Given the description of an element on the screen output the (x, y) to click on. 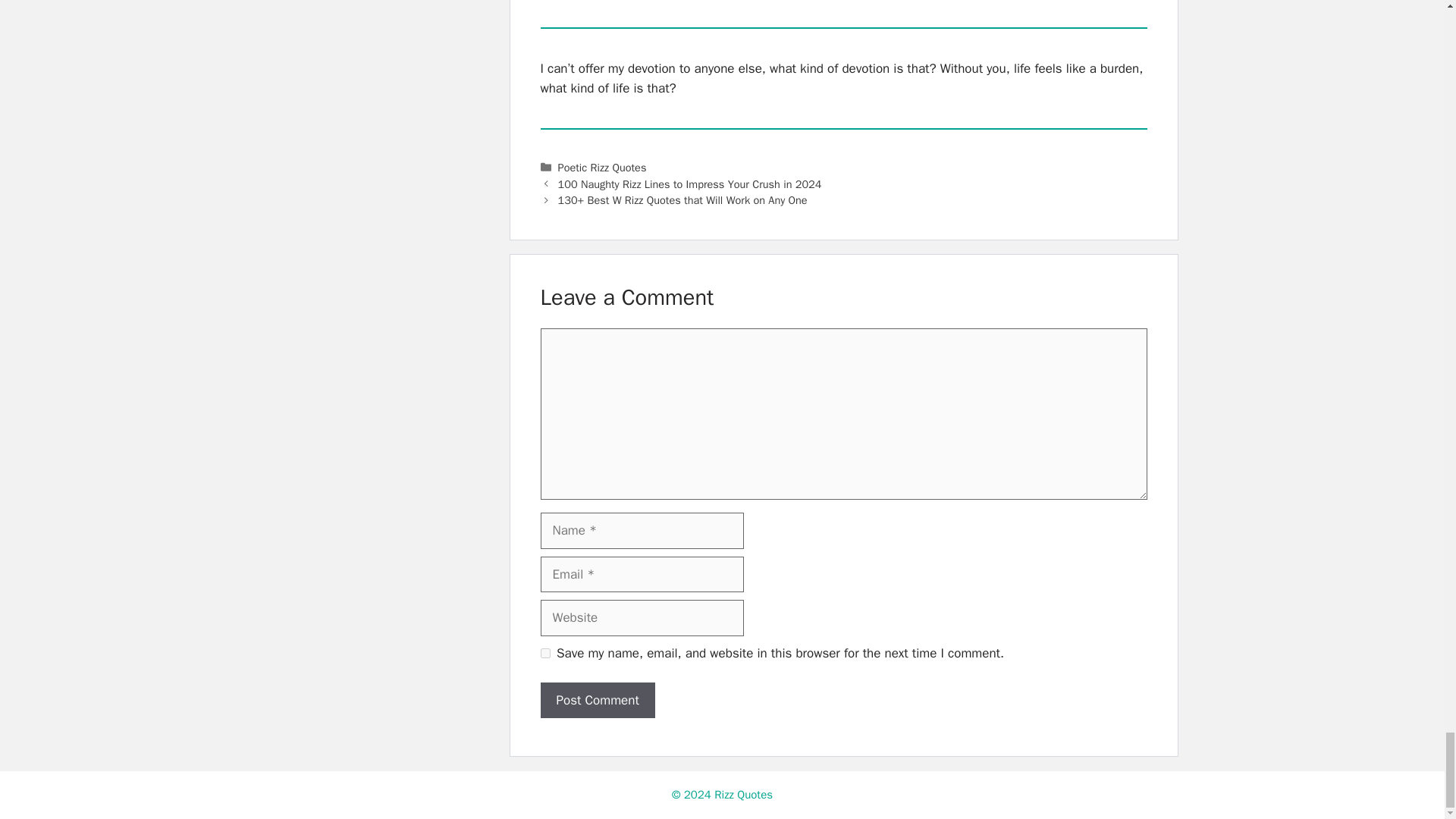
yes (545, 653)
100 Naughty Rizz Lines to Impress Your Crush in 2024 (689, 183)
Post Comment (596, 700)
Post Comment (596, 700)
Poetic Rizz Quotes (601, 167)
